Given the description of an element on the screen output the (x, y) to click on. 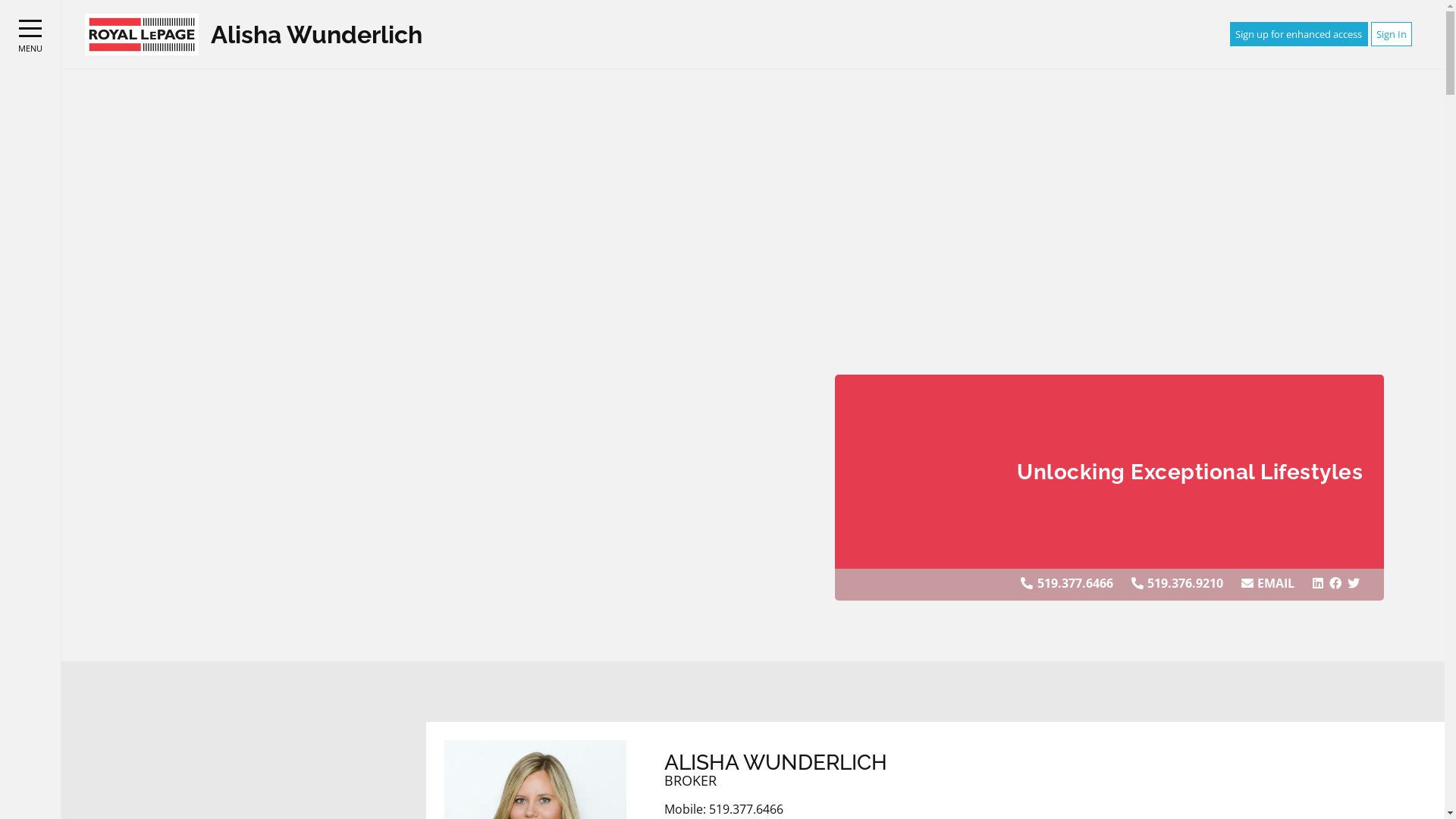
Home Element type: hover (141, 33)
519.376.9210 Element type: text (1185, 582)
519.377.6466 Element type: text (1075, 582)
519.377.6466 Element type: text (746, 809)
EMAIL Element type: text (1275, 582)
